Given the description of an element on the screen output the (x, y) to click on. 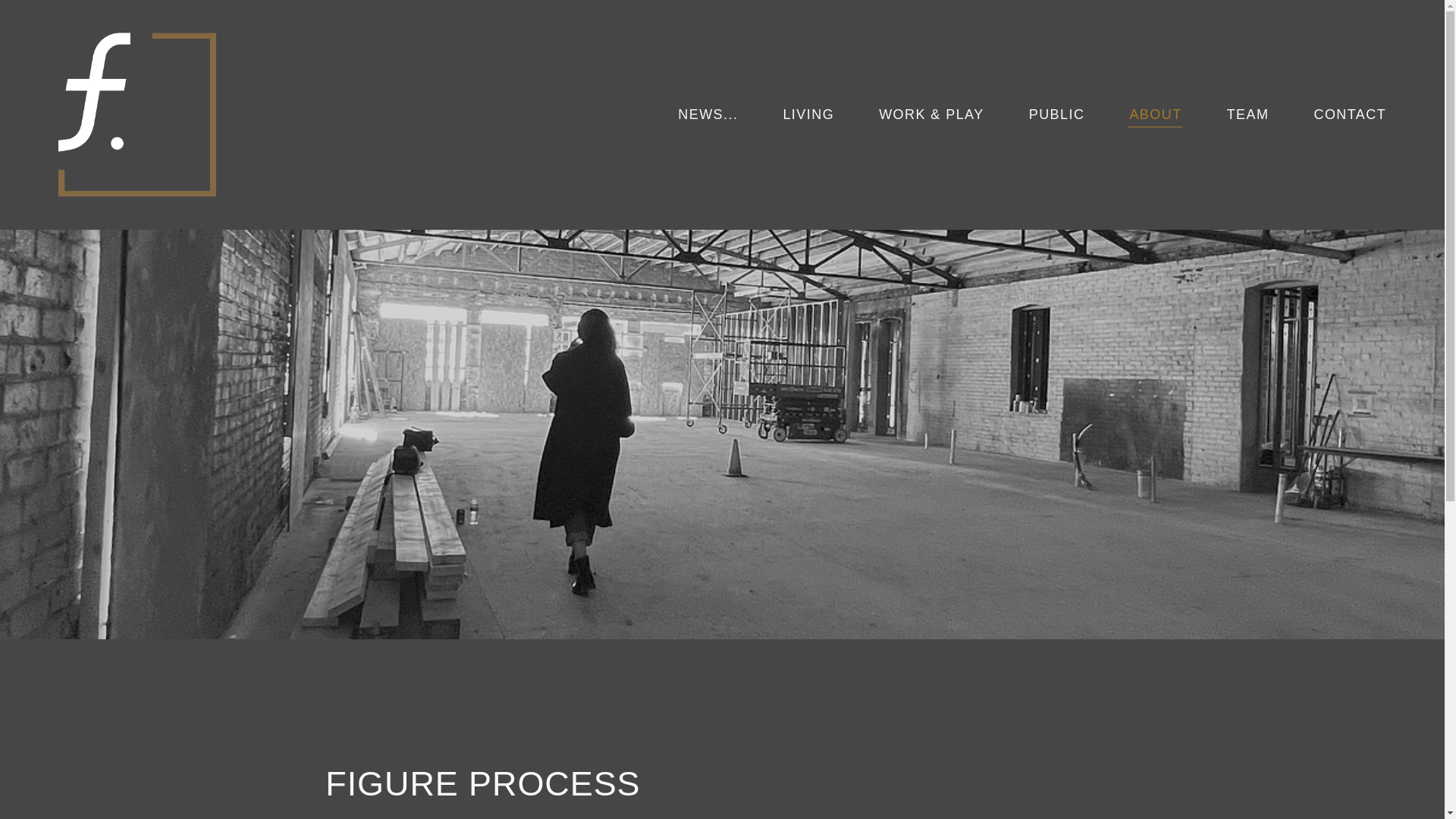
CONTACT (1349, 114)
PUBLIC (1055, 114)
ABOUT (1155, 114)
LIVING (807, 114)
TEAM (1246, 114)
NEWS... (707, 114)
